Given the description of an element on the screen output the (x, y) to click on. 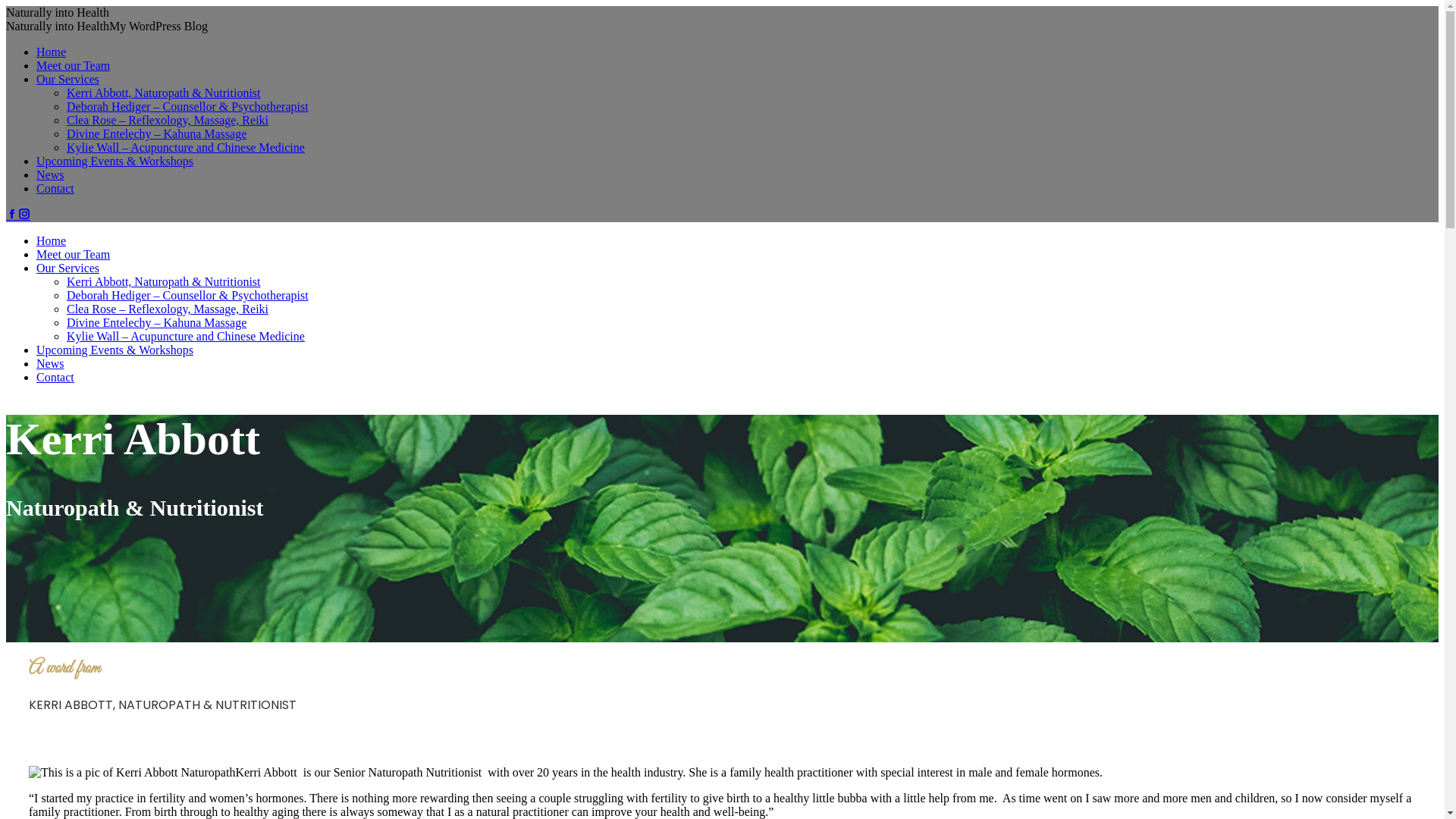
Our Services Element type: text (67, 267)
Instagram page opens in new window Element type: text (24, 214)
Meet our Team Element type: text (72, 65)
Kerri Abbott, Naturopath & Nutritionist Element type: text (163, 92)
Kerri Abbott, Naturopath & Nutritionist Element type: text (163, 281)
Home Element type: text (50, 51)
Contact Element type: text (55, 188)
Our Services Element type: text (67, 78)
News Element type: text (49, 363)
Home Element type: text (50, 240)
Contact Element type: text (55, 376)
Meet our Team Element type: text (72, 253)
News Element type: text (49, 174)
Upcoming Events & Workshops Element type: text (114, 160)
Skip to content Element type: text (5, 5)
Upcoming Events & Workshops Element type: text (114, 349)
Facebook page opens in new window Element type: text (12, 214)
